Given the description of an element on the screen output the (x, y) to click on. 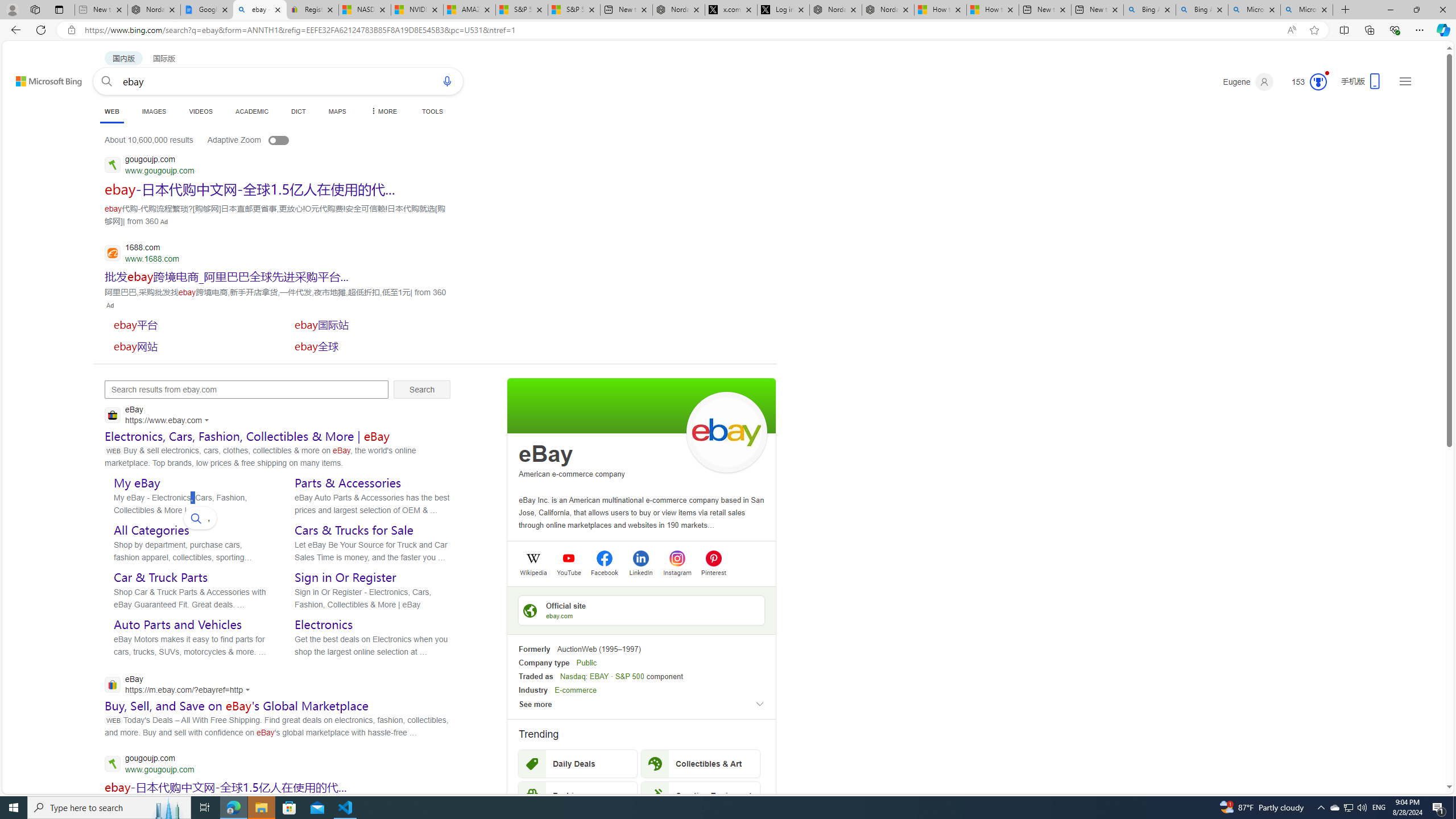
Microsoft Bing Timeline - Search (1306, 9)
E-commerce (575, 690)
See more images of eBay (726, 432)
eBay (545, 453)
Nasdaq (572, 676)
Global web icon (111, 684)
SERP,5710 (225, 276)
Buy, Sell, and Save on eBay's Global Marketplace (236, 705)
Search results from ebay.com (246, 389)
S&P 500 (629, 676)
